Given the description of an element on the screen output the (x, y) to click on. 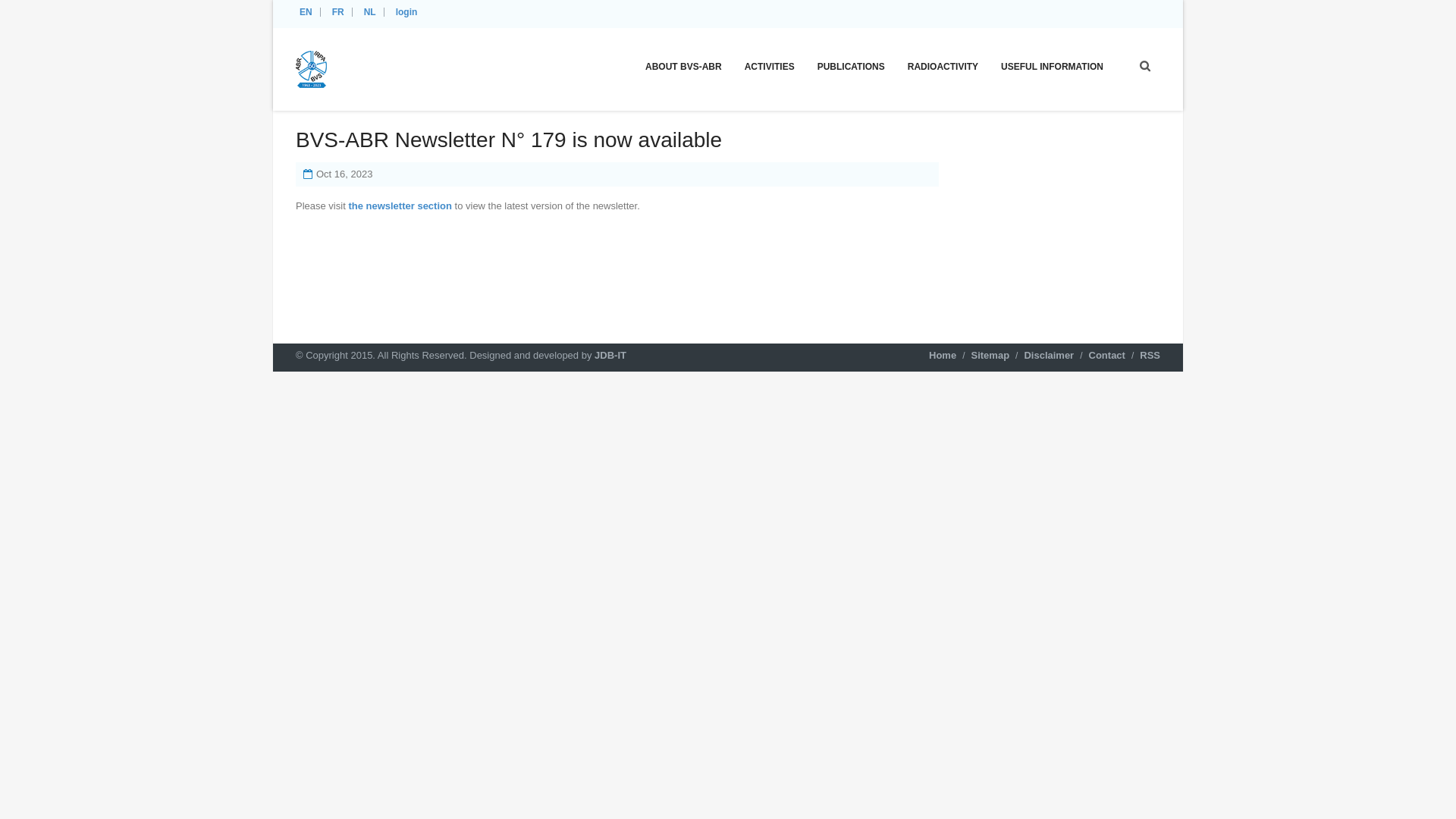
RSS Element type: text (1149, 354)
PUBLICATIONS Element type: text (851, 65)
FR Element type: text (340, 11)
the newsletter section Element type: text (399, 205)
EN Element type: text (307, 11)
RADIOACTIVITY Element type: text (942, 65)
Sitemap Element type: text (989, 354)
ABOUT BVS-ABR Element type: text (683, 65)
Home Element type: text (942, 354)
Disclaimer Element type: text (1048, 354)
login Element type: text (408, 11)
NL Element type: text (372, 11)
USEFUL INFORMATION Element type: text (1051, 65)
Contact Element type: text (1106, 354)
ACTIVITIES Element type: text (769, 65)
JDB-IT Element type: text (610, 354)
